Given the description of an element on the screen output the (x, y) to click on. 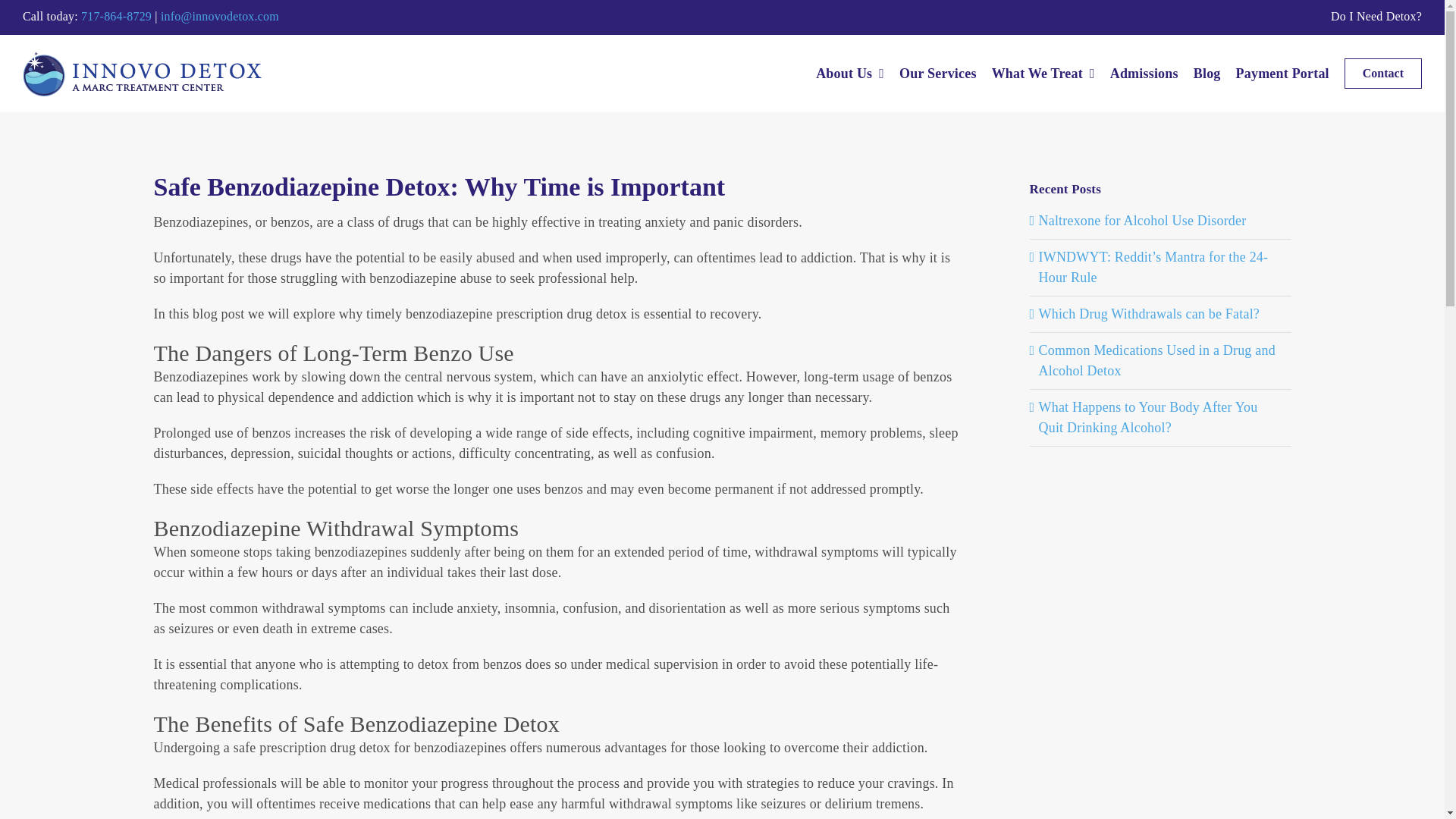
Admissions (1143, 72)
Which Drug Withdrawals can be Fatal? (1149, 313)
Common Medications Used in a Drug and Alcohol Detox (1157, 360)
Contact (1382, 72)
Do I Need Detox? (1376, 15)
About Us (849, 72)
What We Treat (1042, 72)
Our Services (937, 72)
717-864-8729 (116, 15)
Payment Portal (1282, 72)
Naltrexone for Alcohol Use Disorder (1142, 220)
